Given the description of an element on the screen output the (x, y) to click on. 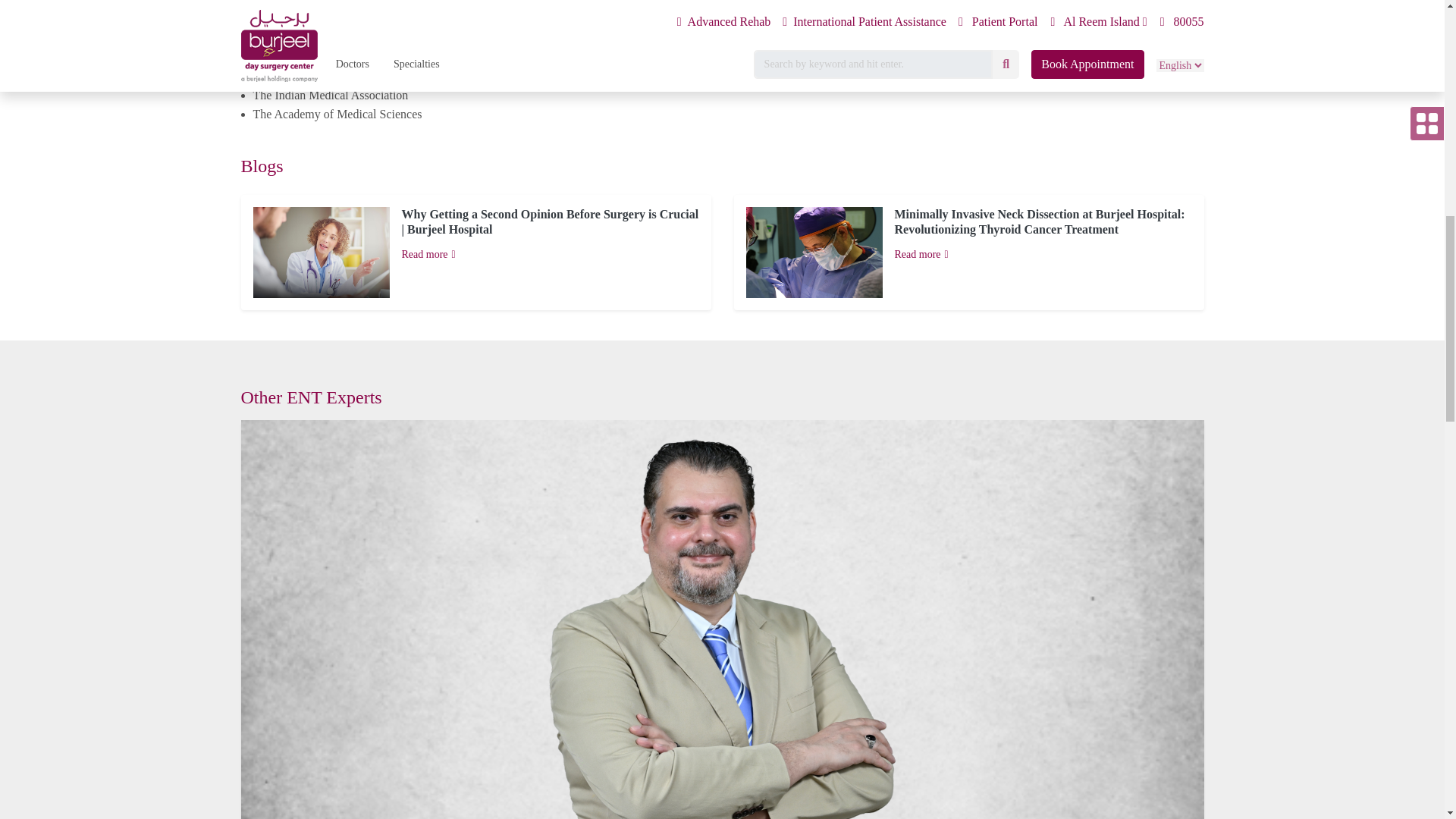
Read more (1043, 254)
